Given the description of an element on the screen output the (x, y) to click on. 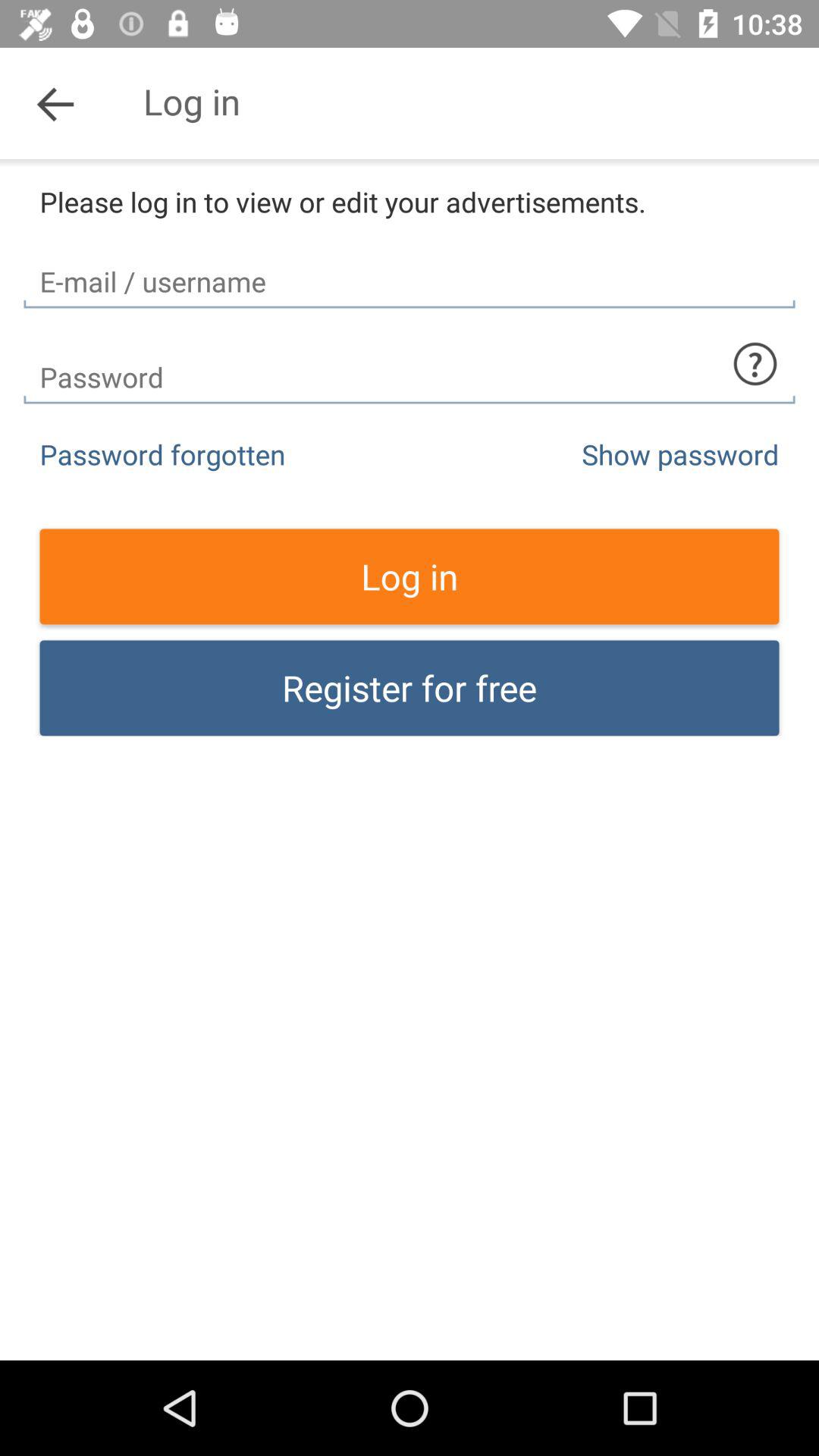
choose the item next to the password forgotten item (680, 454)
